Given the description of an element on the screen output the (x, y) to click on. 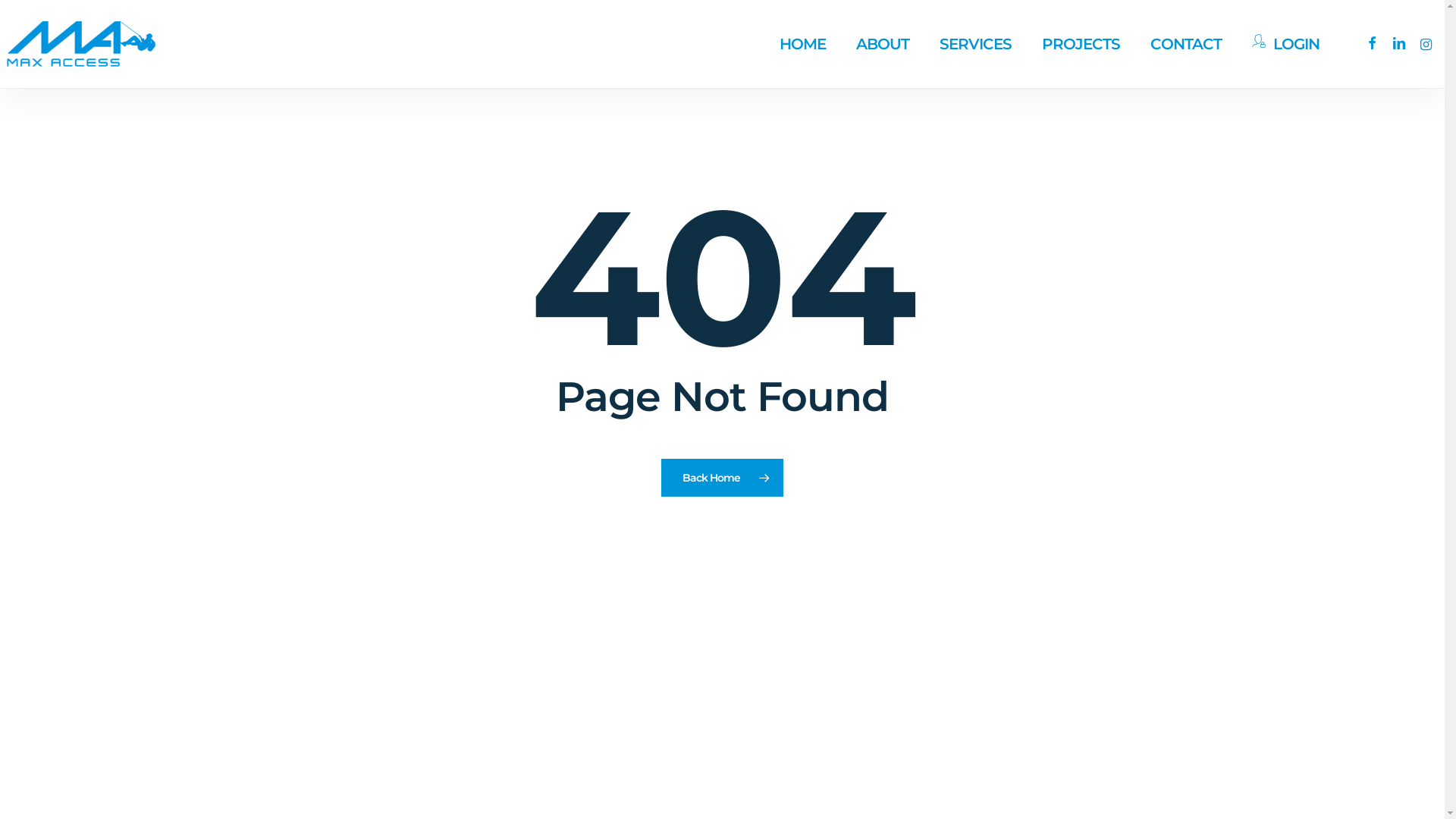
ABOUT Element type: text (882, 43)
CONTACT Element type: text (1185, 43)
Back Home Element type: text (722, 476)
SERVICES Element type: text (975, 43)
facebook Element type: text (1370, 43)
HOME Element type: text (802, 43)
linkedin Element type: text (1398, 43)
instagram Element type: text (1425, 43)
PROJECTS Element type: text (1080, 43)
LOGIN Element type: text (1285, 43)
